Given the description of an element on the screen output the (x, y) to click on. 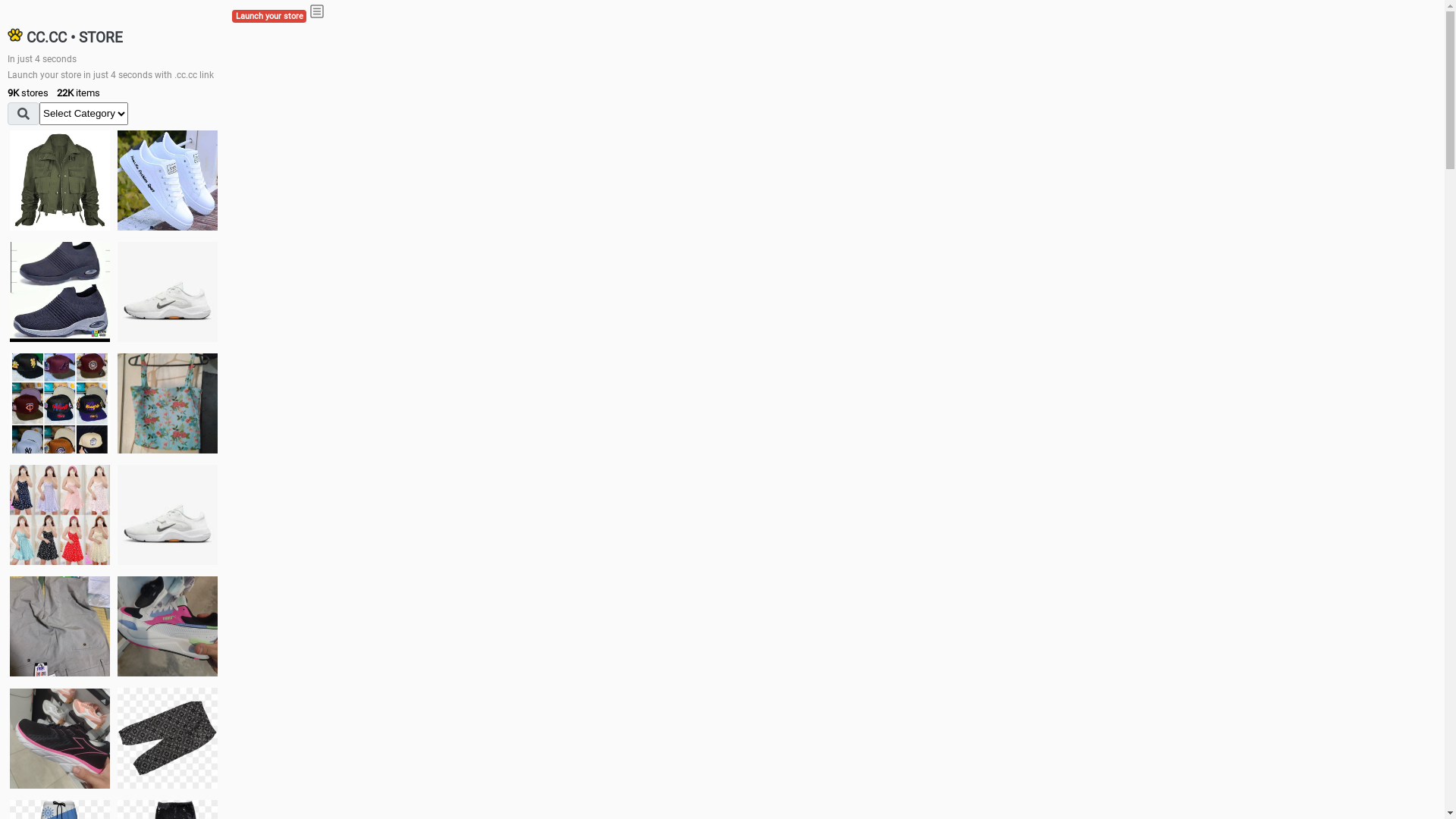
Dress/square nect top Element type: hover (59, 514)
Zapatillas Element type: hover (59, 738)
white shoes Element type: hover (167, 180)
jacket Element type: hover (59, 180)
Short pant Element type: hover (167, 737)
Zapatillas pumas Element type: hover (167, 626)
shoes for boys Element type: hover (59, 291)
Shoes Element type: hover (167, 514)
Shoes for boys Element type: hover (167, 291)
Launch your store Element type: text (269, 15)
Ukay cloth Element type: hover (167, 403)
Things we need Element type: hover (59, 403)
